Given the description of an element on the screen output the (x, y) to click on. 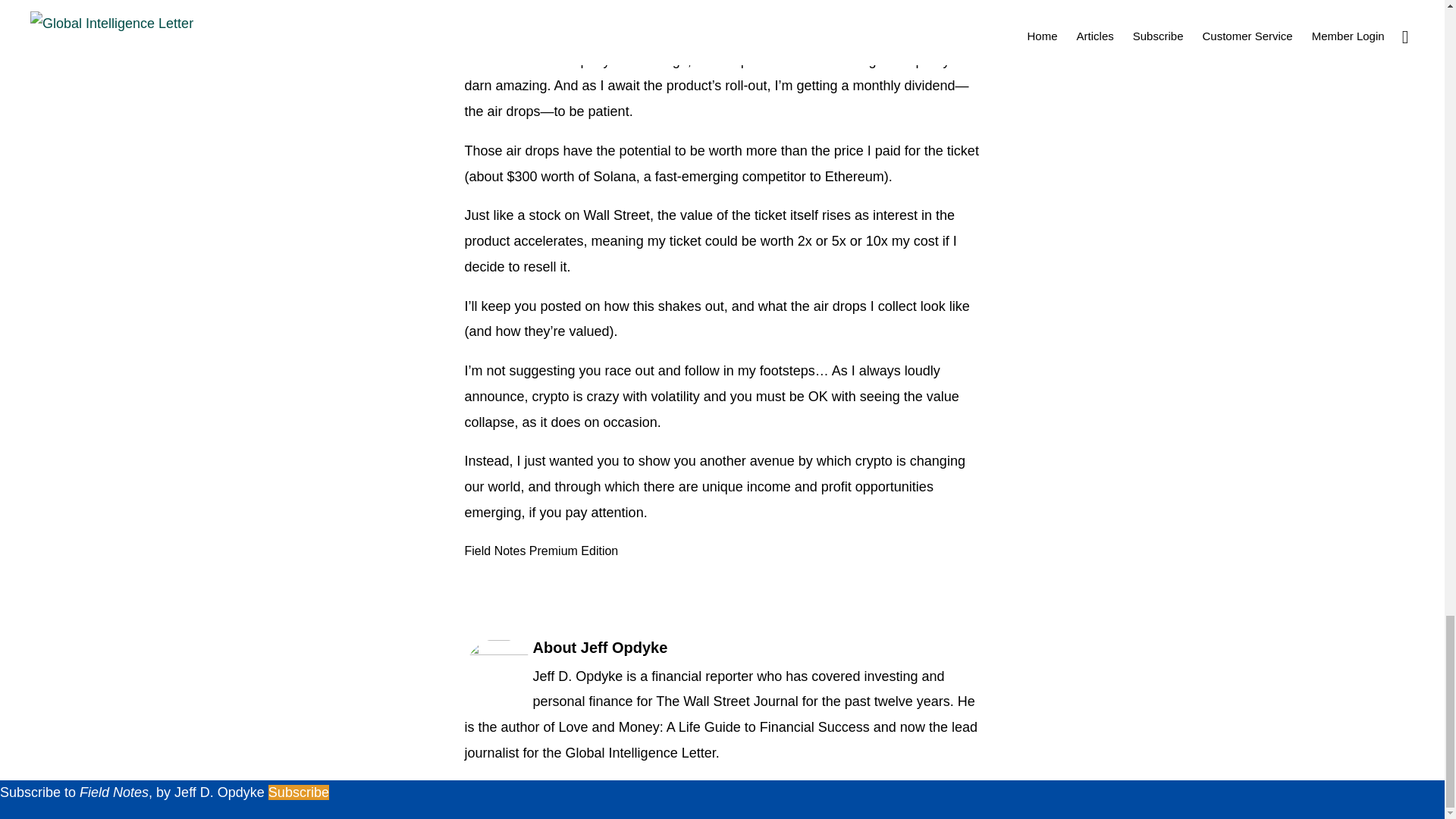
Field Notes Premium Edition (540, 550)
Subscribe (298, 792)
